Given the description of an element on the screen output the (x, y) to click on. 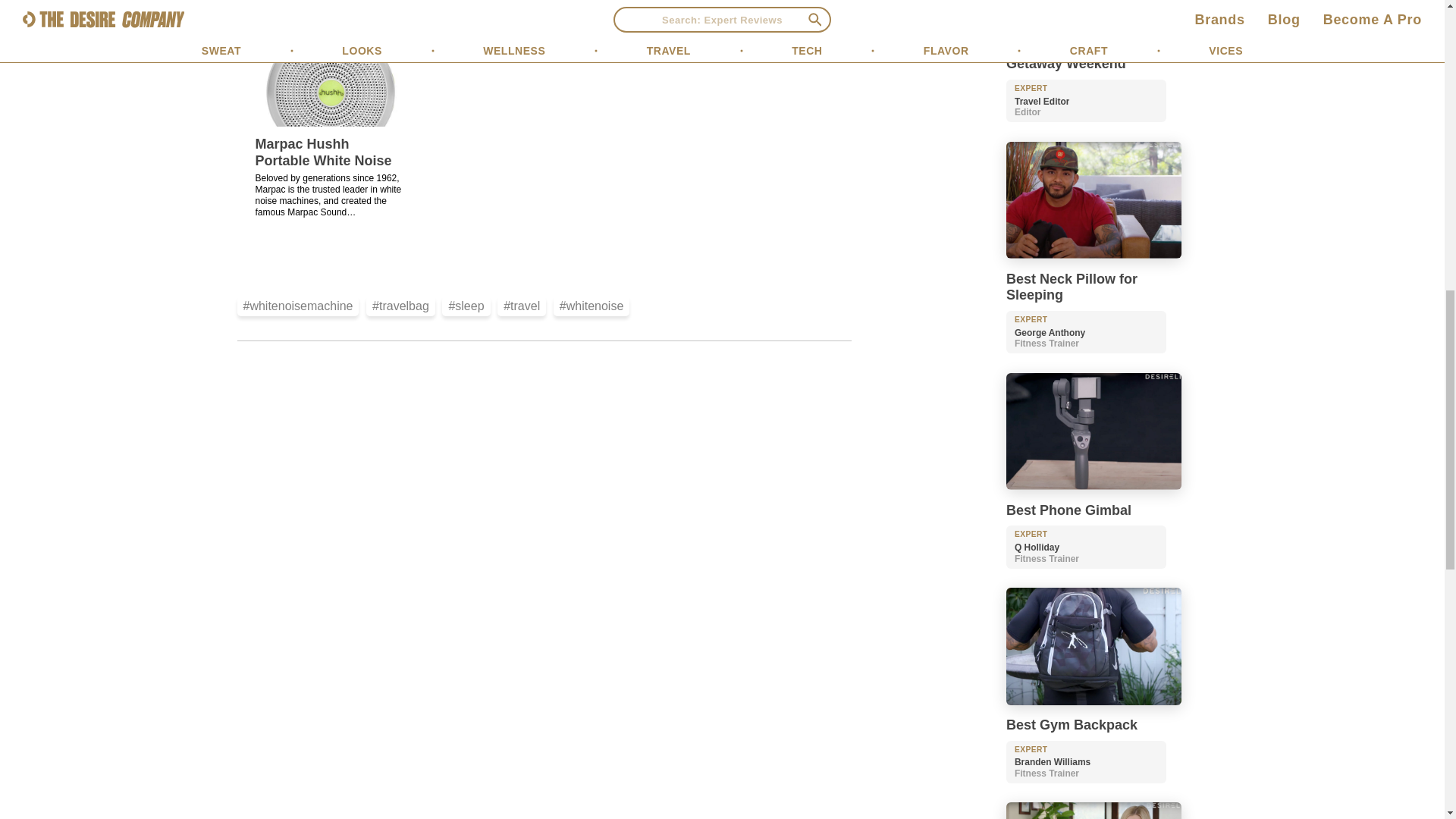
Marpac Hushh Portable White Noise Machine (322, 160)
